Given the description of an element on the screen output the (x, y) to click on. 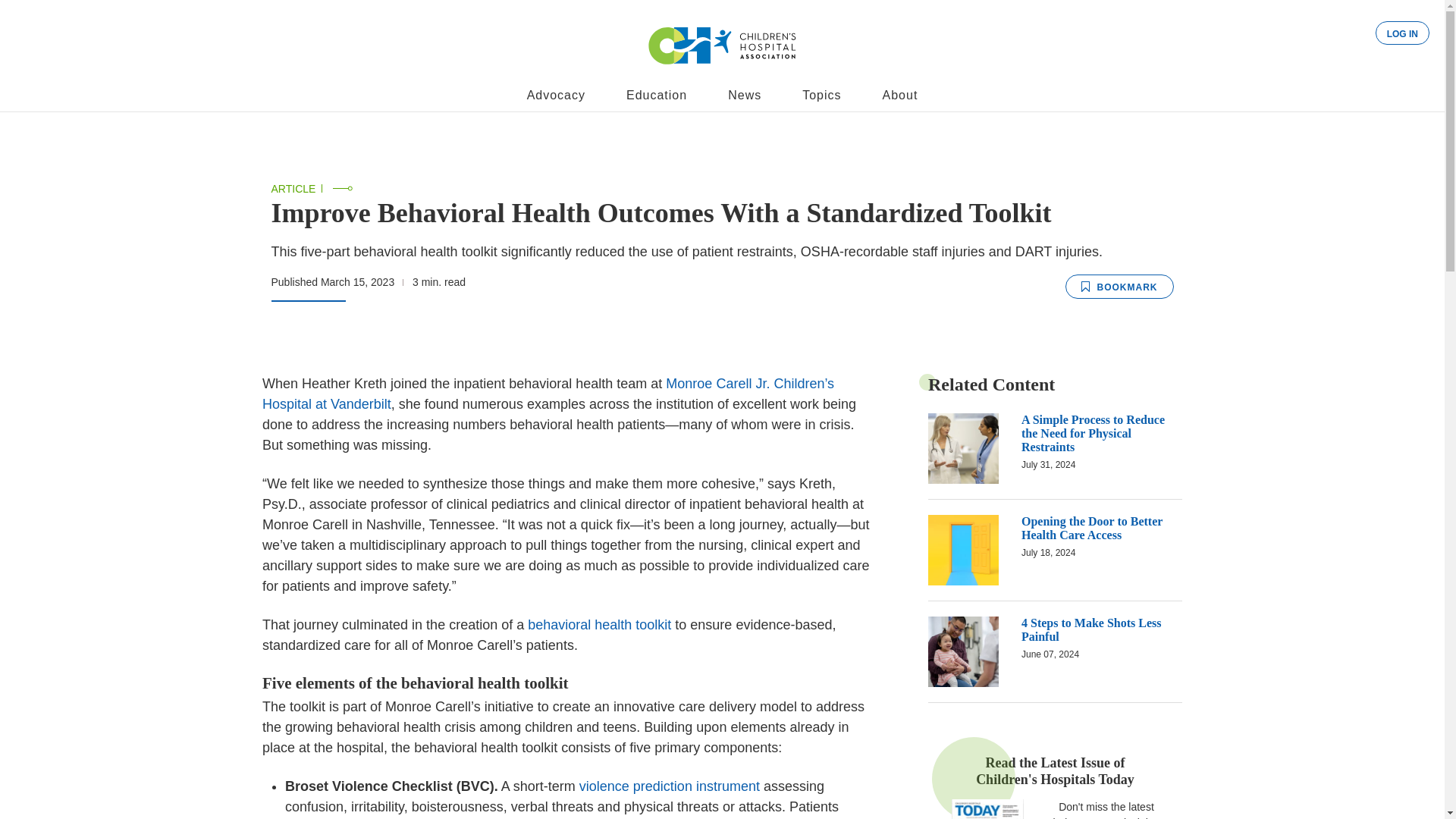
Advocacy (556, 95)
About (900, 95)
News (744, 95)
BOOKMARK (1118, 286)
Opening the Door to Better Health Care Access (1091, 528)
Topics (821, 95)
Education (656, 95)
behavioral health toolkit (599, 624)
LOG IN (1402, 33)
ARTICLE (292, 188)
